Given the description of an element on the screen output the (x, y) to click on. 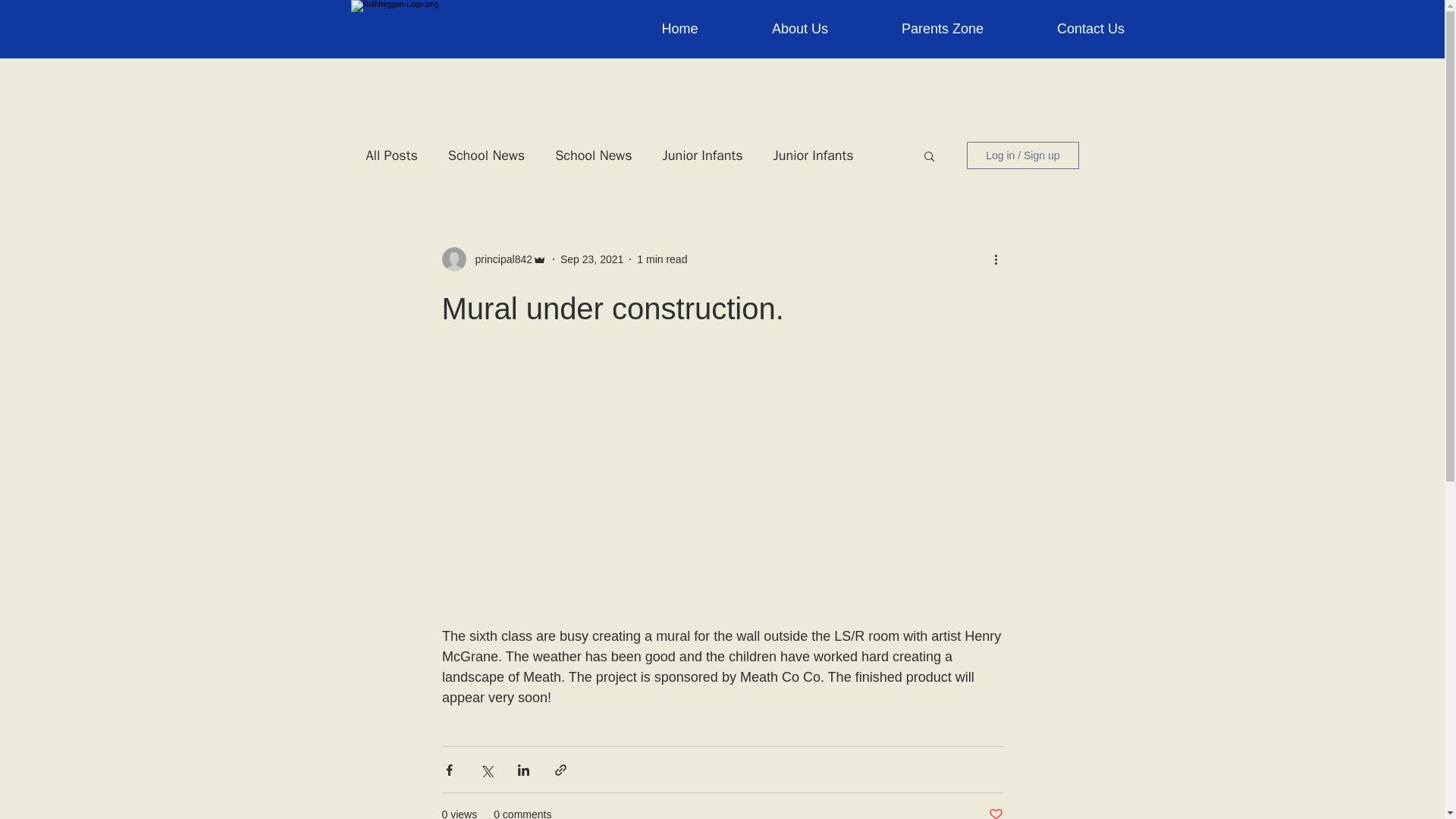
School News (592, 155)
Junior Infants (702, 155)
Contact Us (1090, 28)
1 min read (662, 259)
School News (486, 155)
Home (679, 28)
Sep 23, 2021 (591, 259)
Junior Infants (813, 155)
All Posts (390, 155)
principal842 (498, 259)
